Given the description of an element on the screen output the (x, y) to click on. 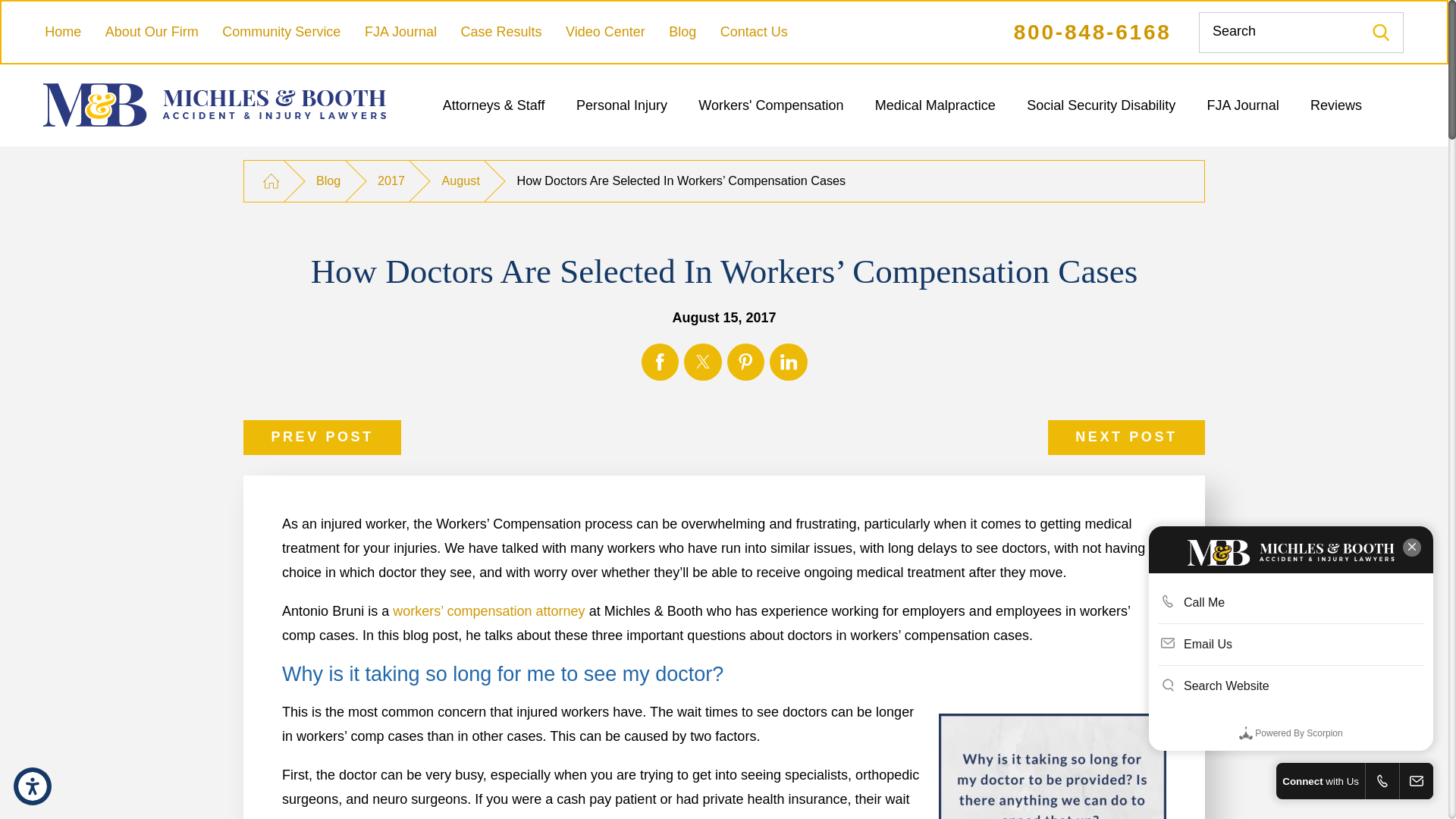
FJA Journal (400, 31)
Go Home (270, 180)
Search Icon (1381, 31)
Personal Injury (621, 104)
Blog (681, 31)
800-848-6168 (1092, 32)
Search Our Site (1381, 31)
About Our Firm (151, 31)
Video Center (605, 31)
Community Service (281, 31)
Home (63, 31)
Case Results (500, 31)
Contact Us (753, 31)
Open the accessibility options menu (31, 786)
